Given the description of an element on the screen output the (x, y) to click on. 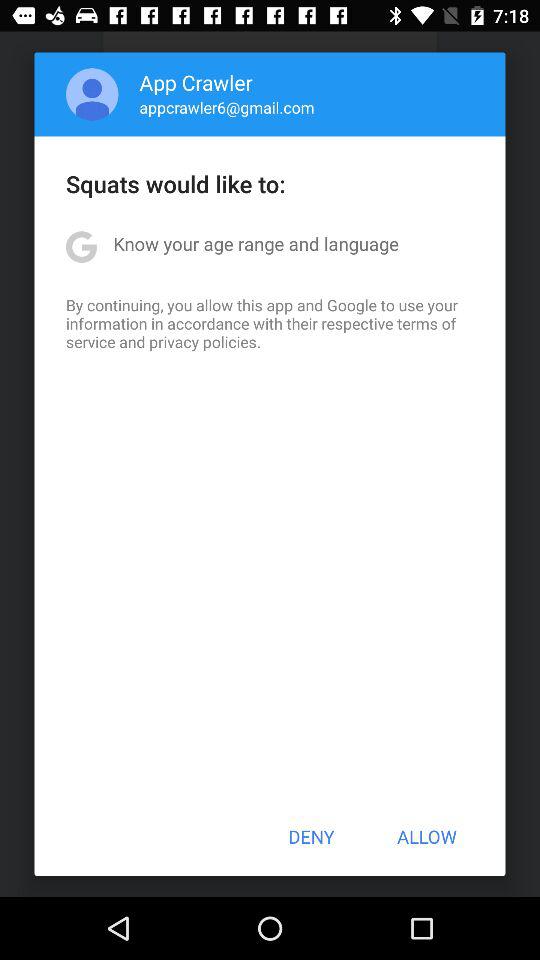
turn off button next to allow button (311, 836)
